Given the description of an element on the screen output the (x, y) to click on. 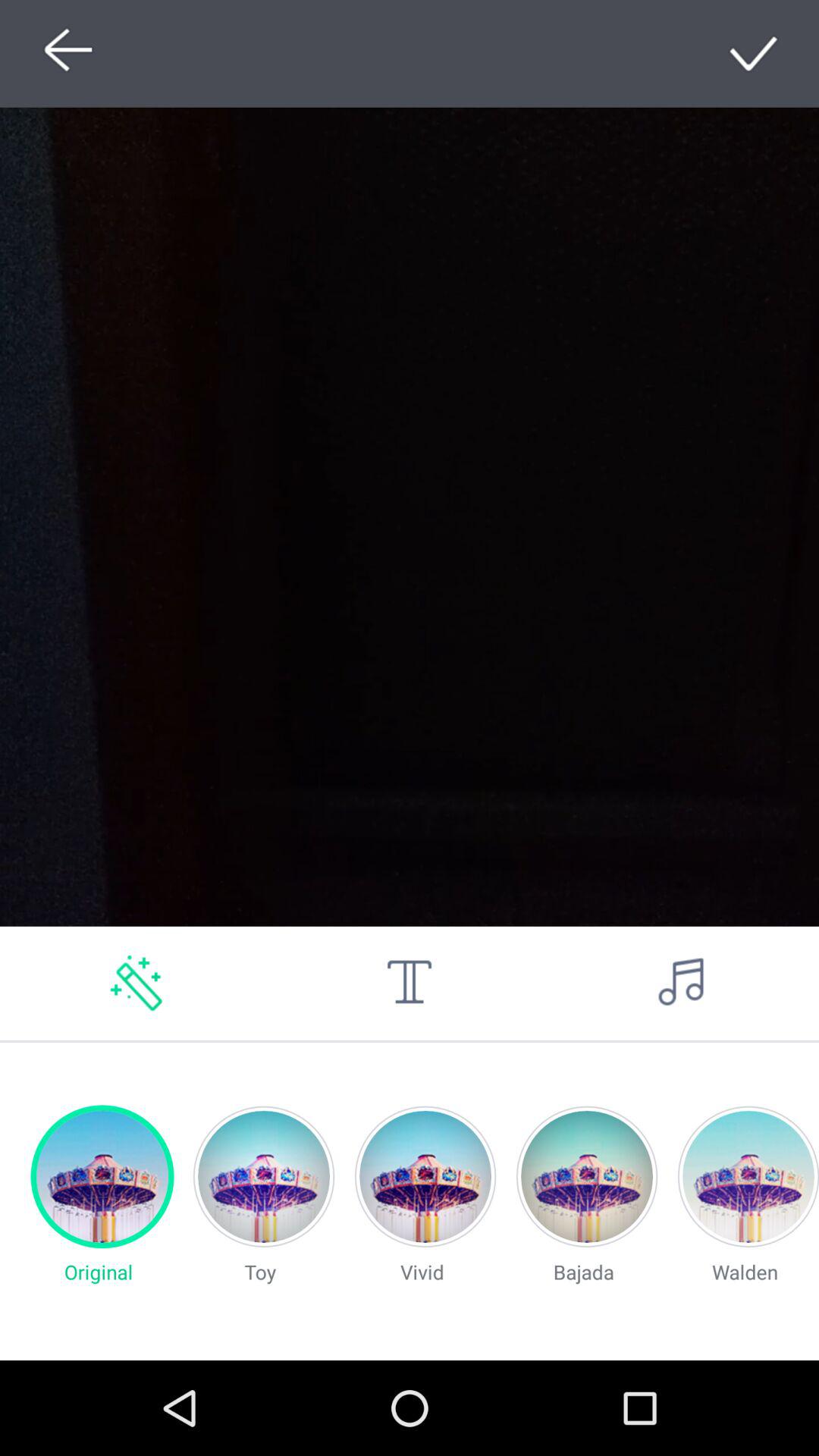
tools (409, 983)
